Given the description of an element on the screen output the (x, y) to click on. 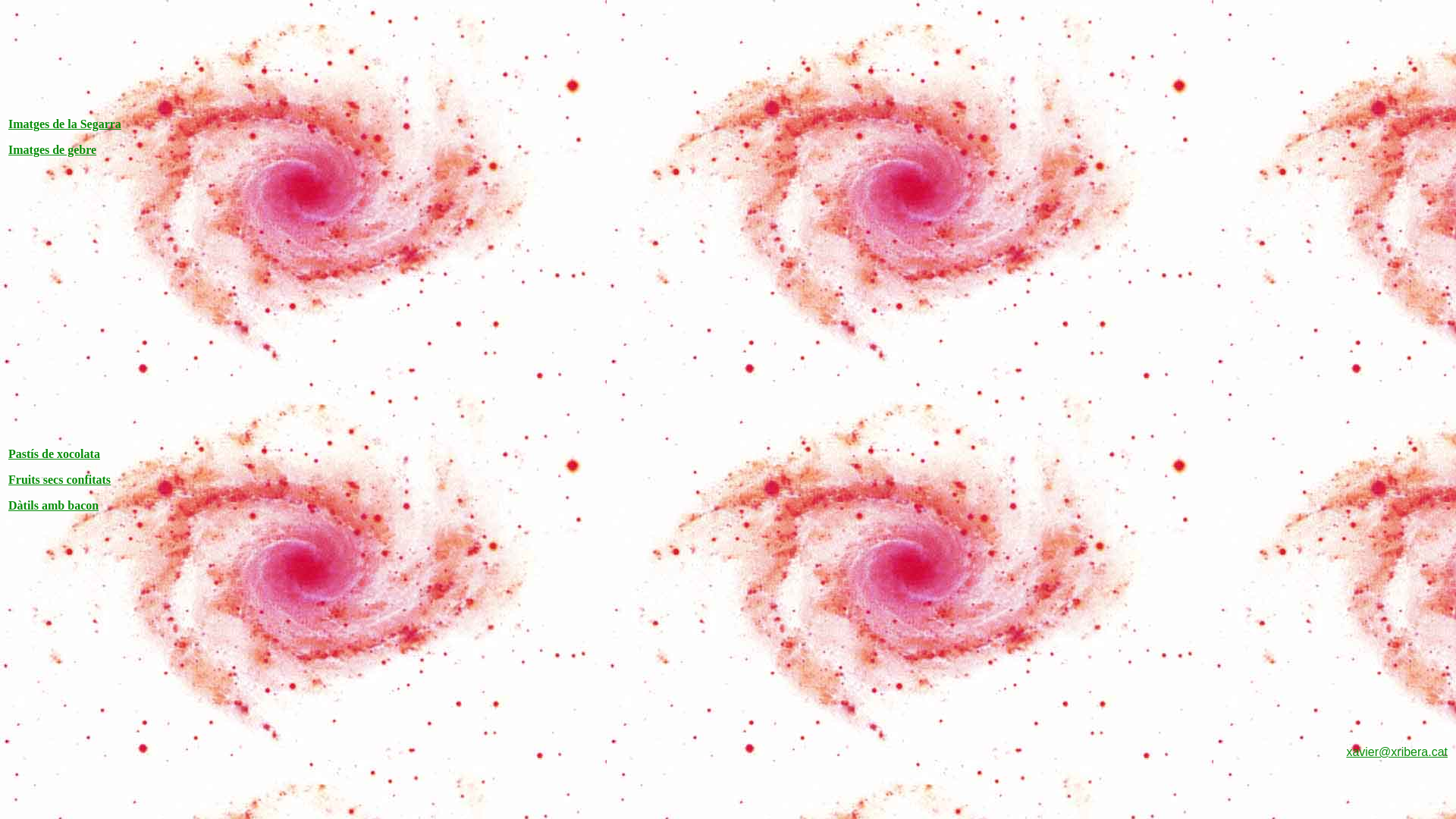
Imatges de la Segarra Element type: text (64, 123)
xavier@xribera.cat Element type: text (1396, 751)
Fruits secs confitats Element type: text (59, 479)
Imatges de gebre Element type: text (52, 149)
